Given the description of an element on the screen output the (x, y) to click on. 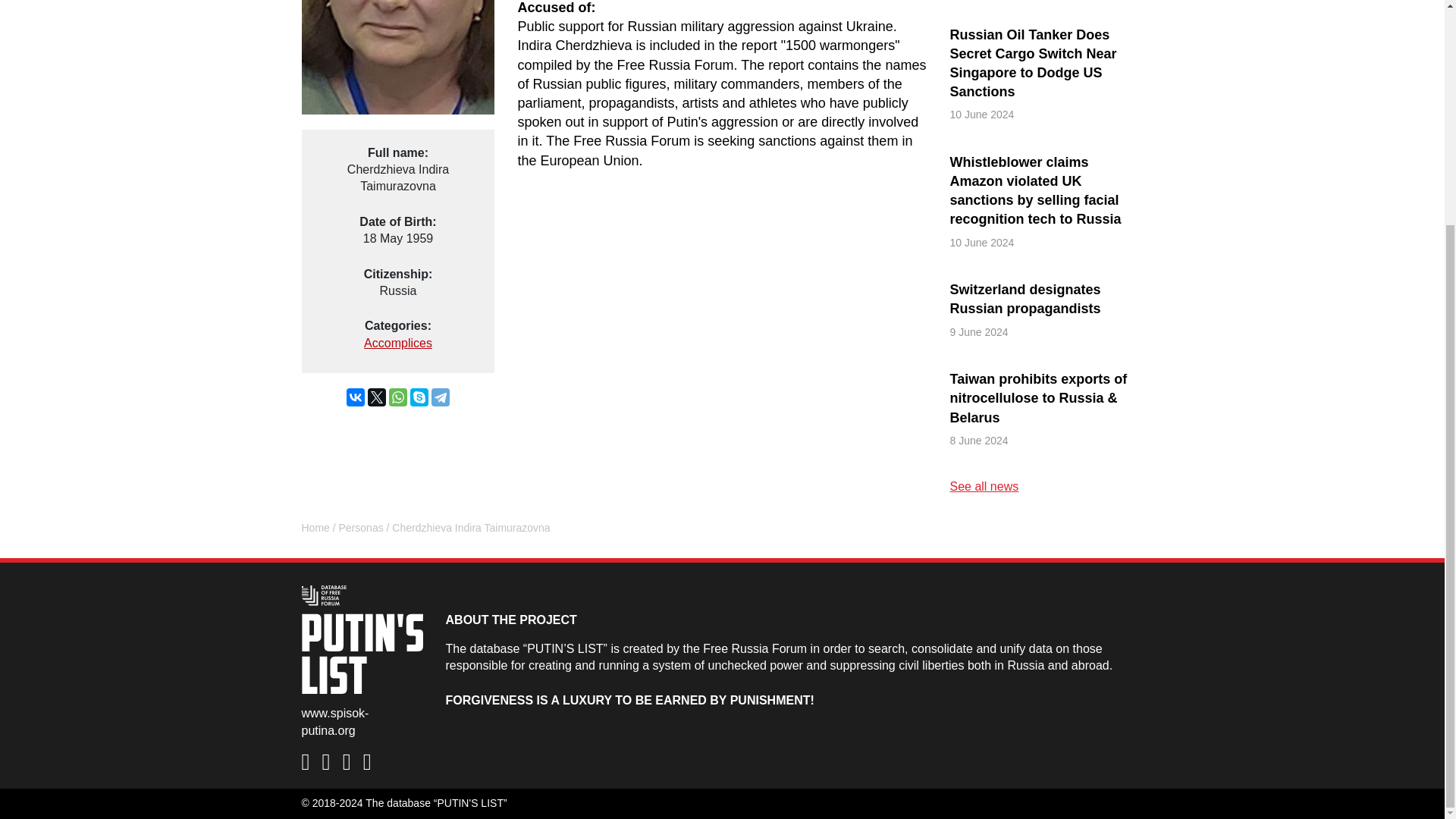
Skype (419, 397)
Home (315, 527)
Personas (361, 527)
WhatsApp (397, 397)
Telegram (439, 397)
Accomplices (398, 342)
Twitter (376, 397)
www.spisok-putina.org (335, 721)
See all news (983, 486)
Switzerland designates Russian propagandists (1045, 299)
